Given the description of an element on the screen output the (x, y) to click on. 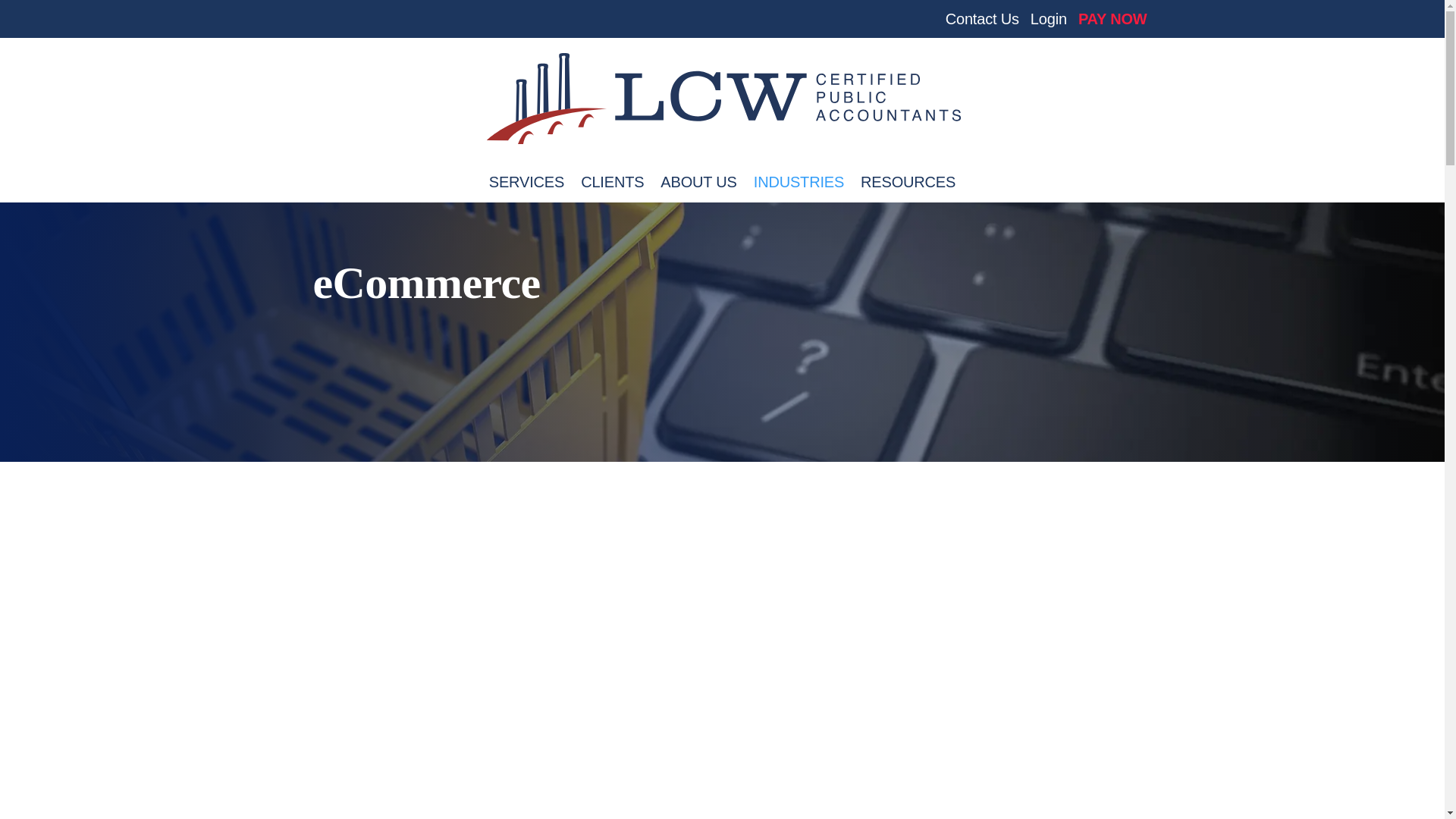
CLIENTS (611, 189)
Login (1048, 24)
INDUSTRIES (799, 189)
ABOUT US (698, 189)
Contact Us (981, 24)
SERVICES (526, 189)
PAY NOW (1112, 24)
